Given the description of an element on the screen output the (x, y) to click on. 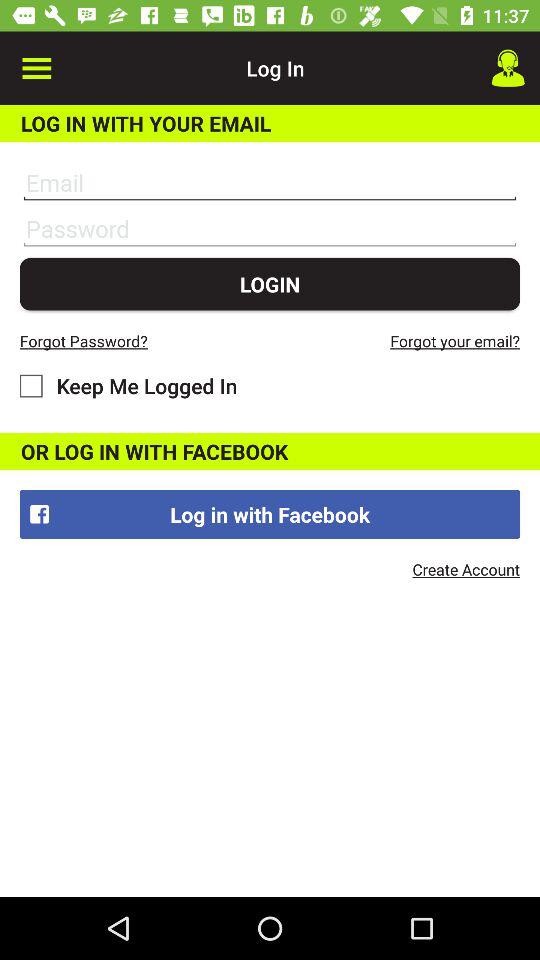
select icon above the or log in icon (128, 385)
